Given the description of an element on the screen output the (x, y) to click on. 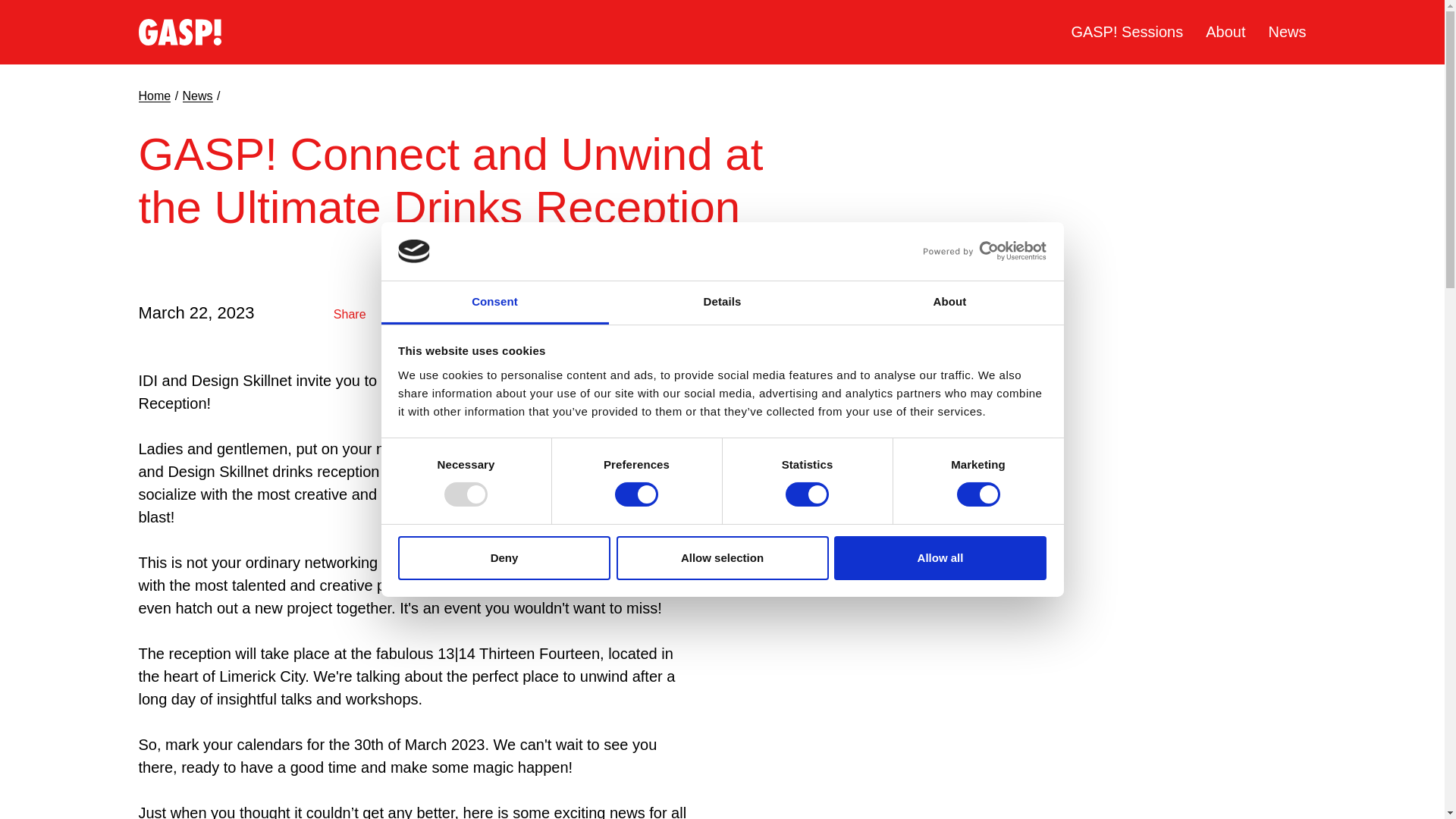
News (1287, 31)
GASP! Sessions (1126, 31)
About (1224, 31)
About (948, 302)
Allow selection (721, 557)
Deny (503, 557)
Allow all (940, 557)
Details (721, 302)
Consent (494, 302)
